Given the description of an element on the screen output the (x, y) to click on. 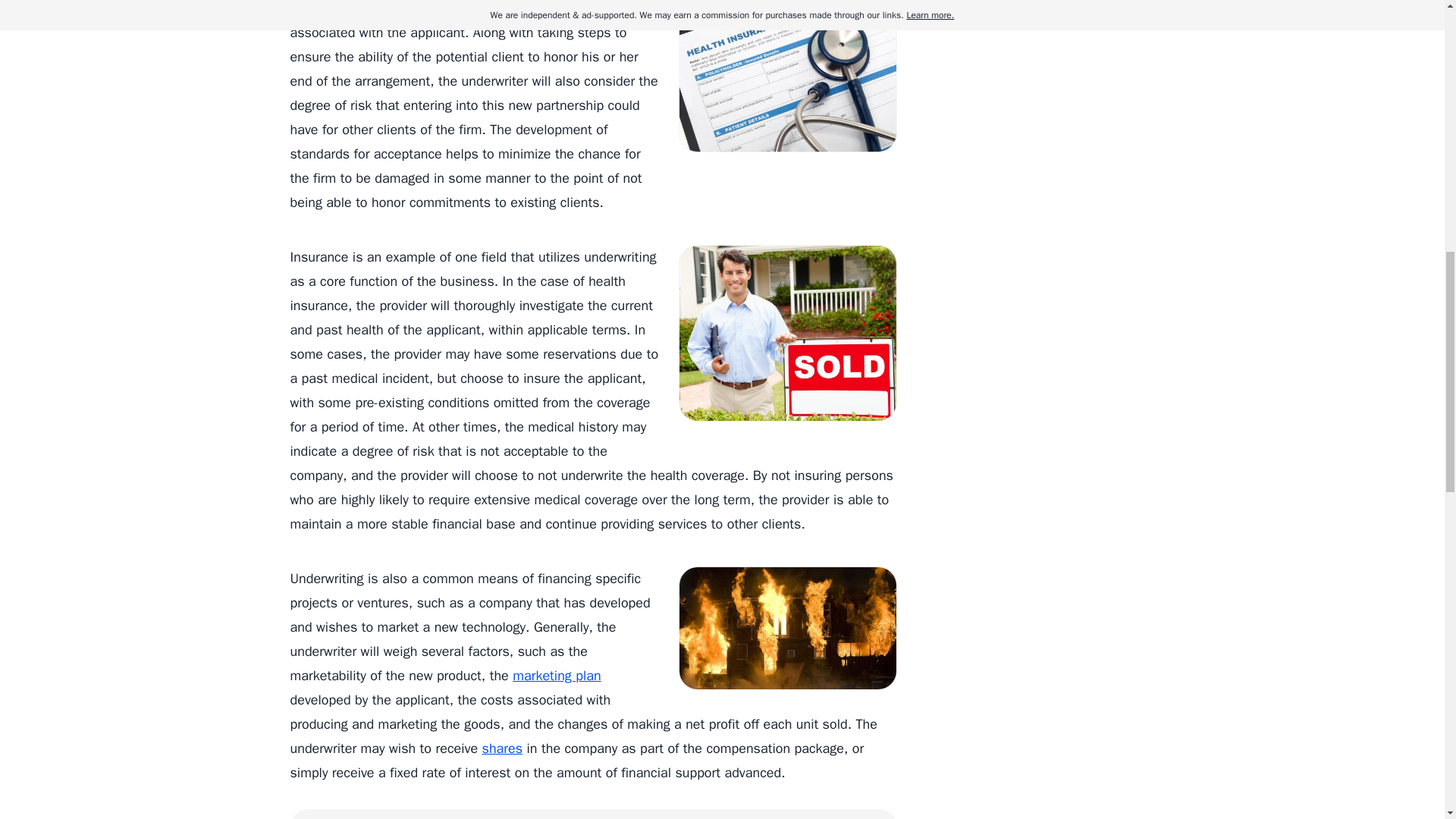
marketing plan (555, 675)
shares (501, 748)
